Given the description of an element on the screen output the (x, y) to click on. 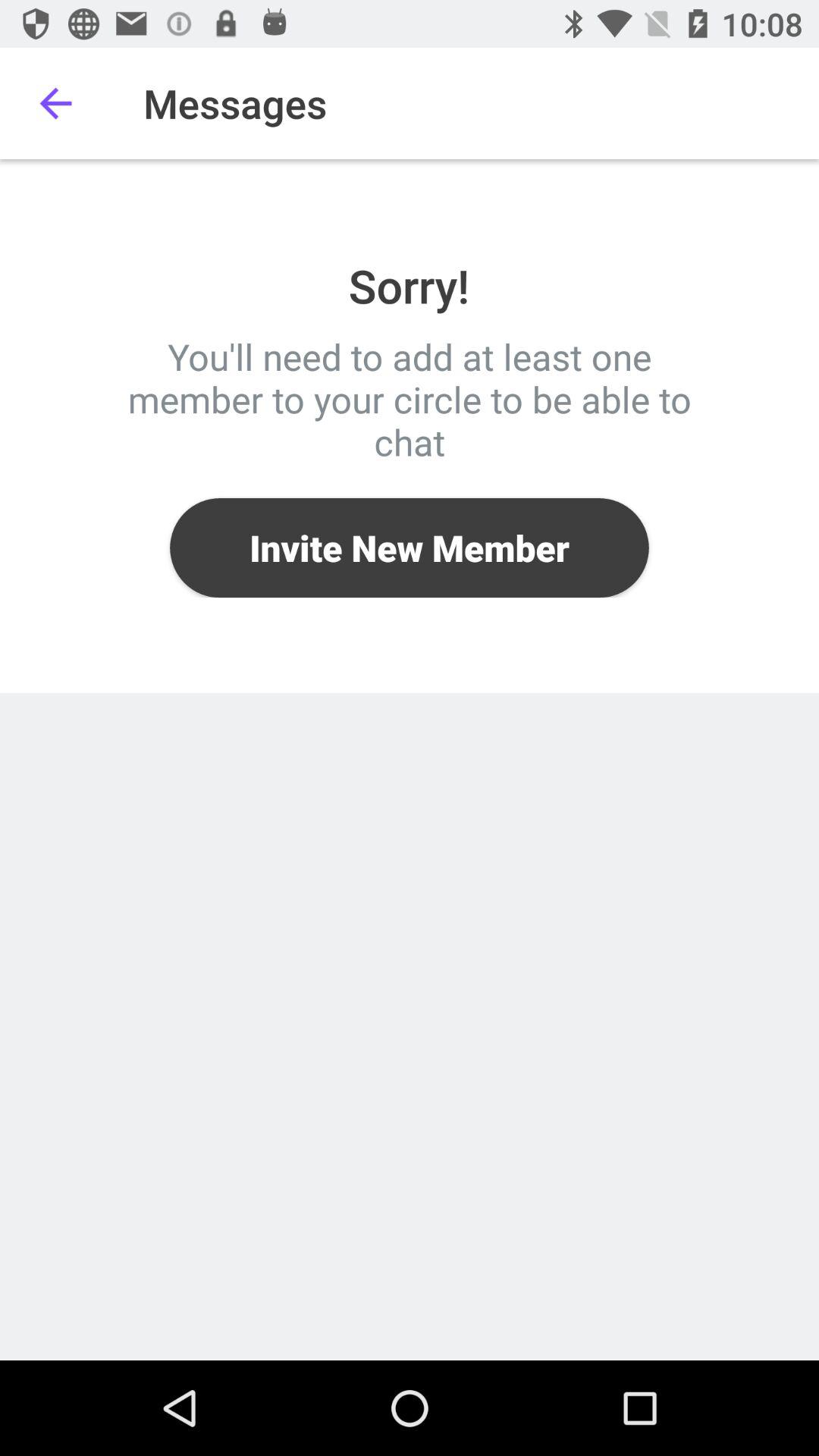
select the item to the left of messages icon (55, 103)
